Given the description of an element on the screen output the (x, y) to click on. 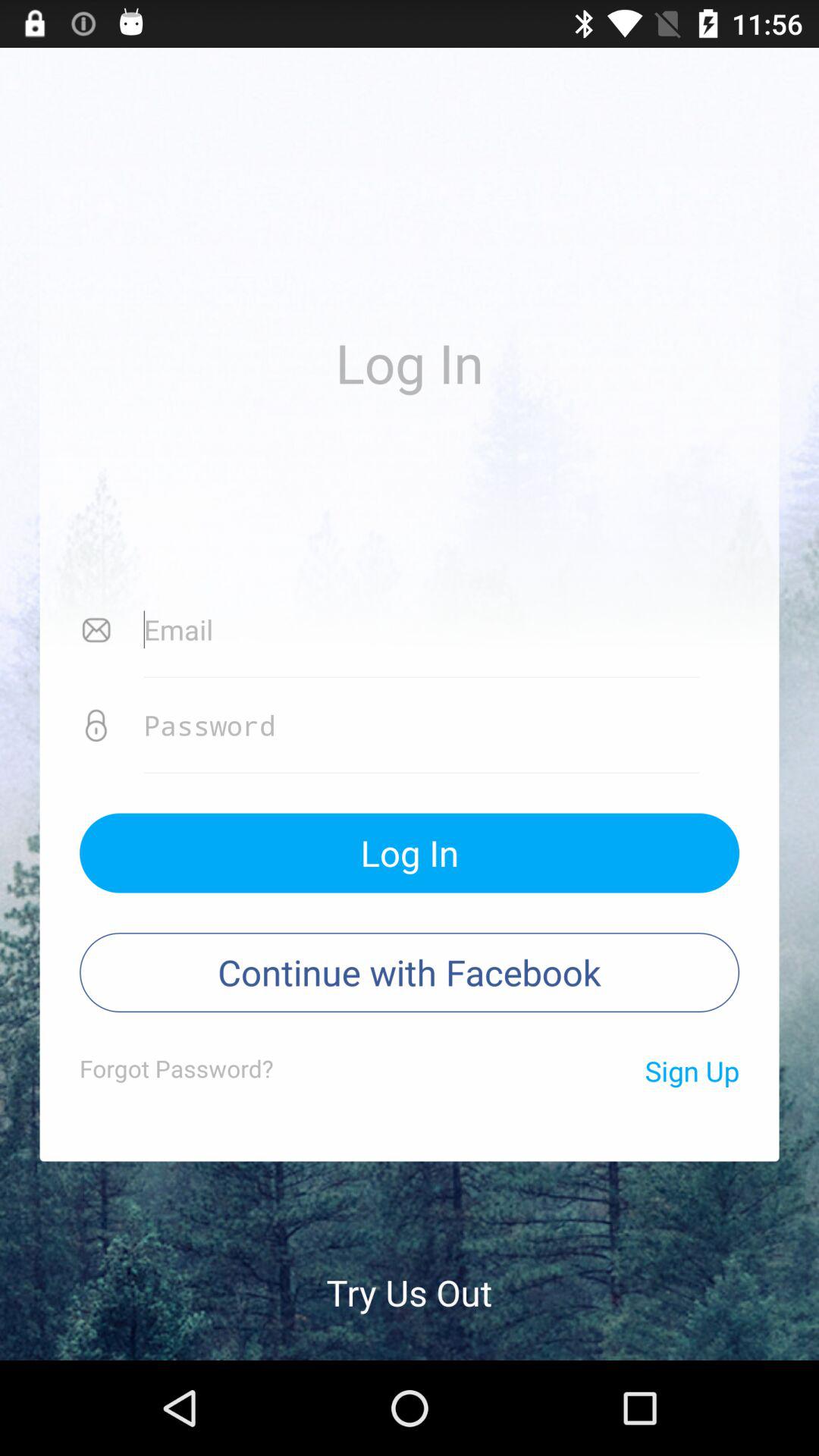
email (421, 629)
